Given the description of an element on the screen output the (x, y) to click on. 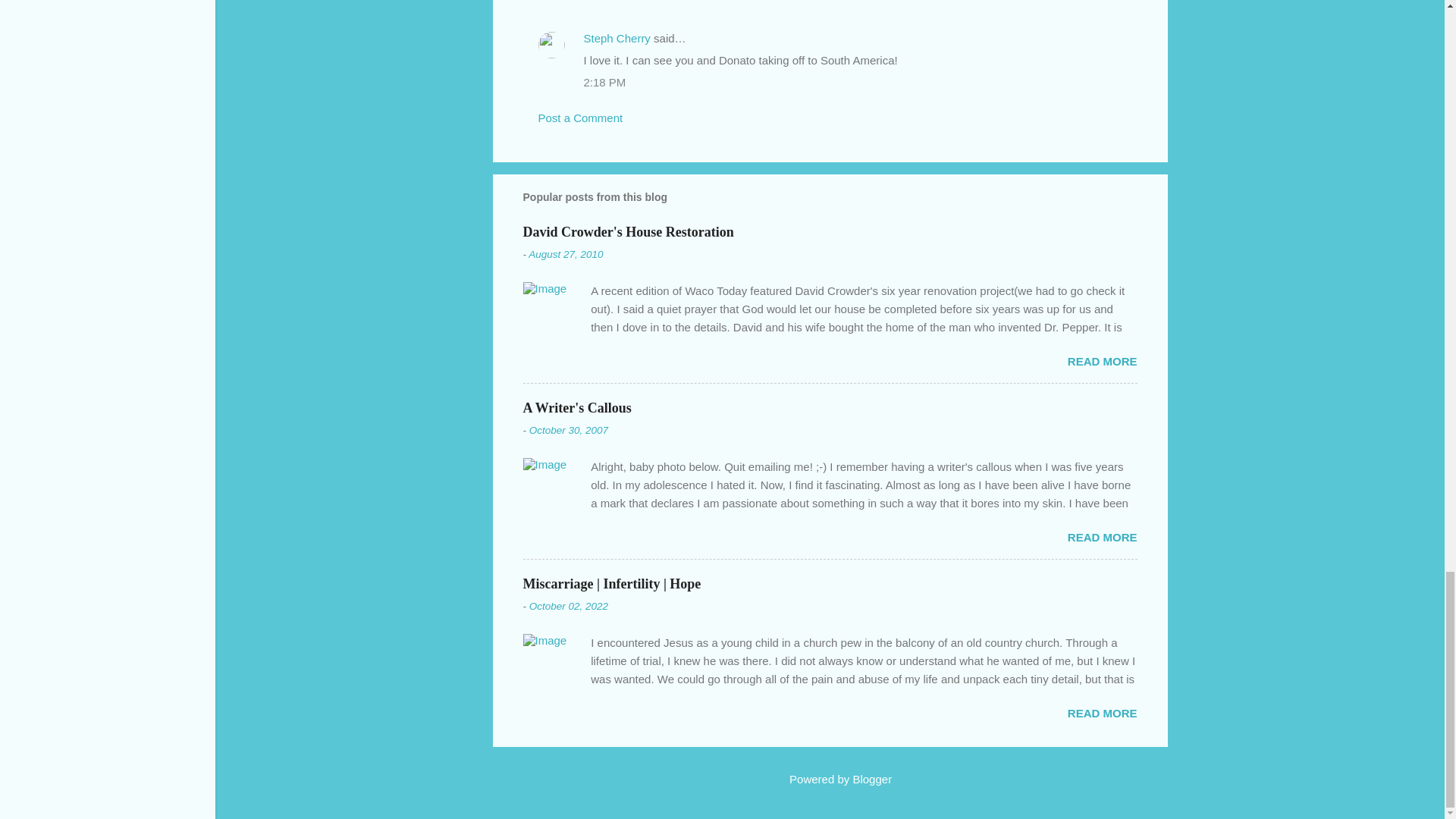
Steph Cherry (616, 38)
Post a Comment (580, 117)
READ MORE (1102, 536)
READ MORE (1102, 712)
READ MORE (1102, 360)
A Writer's Callous (576, 407)
August 27, 2010 (565, 254)
October 30, 2007 (568, 430)
October 02, 2022 (568, 605)
comment permalink (604, 0)
David Crowder's House Restoration (627, 231)
2:18 PM (604, 82)
9:27 AM (604, 0)
